Given the description of an element on the screen output the (x, y) to click on. 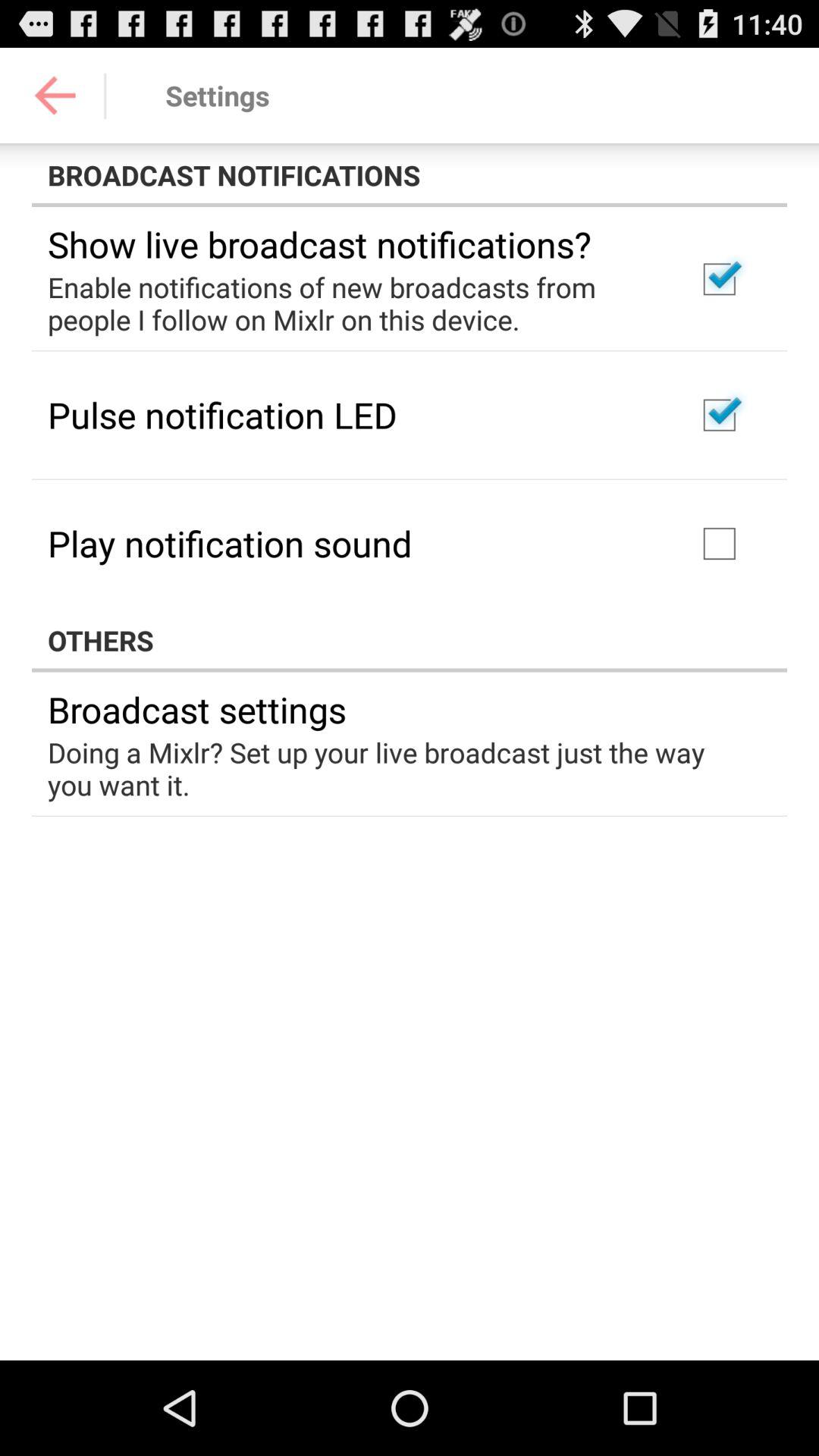
open the icon below show live broadcast app (351, 303)
